Given the description of an element on the screen output the (x, y) to click on. 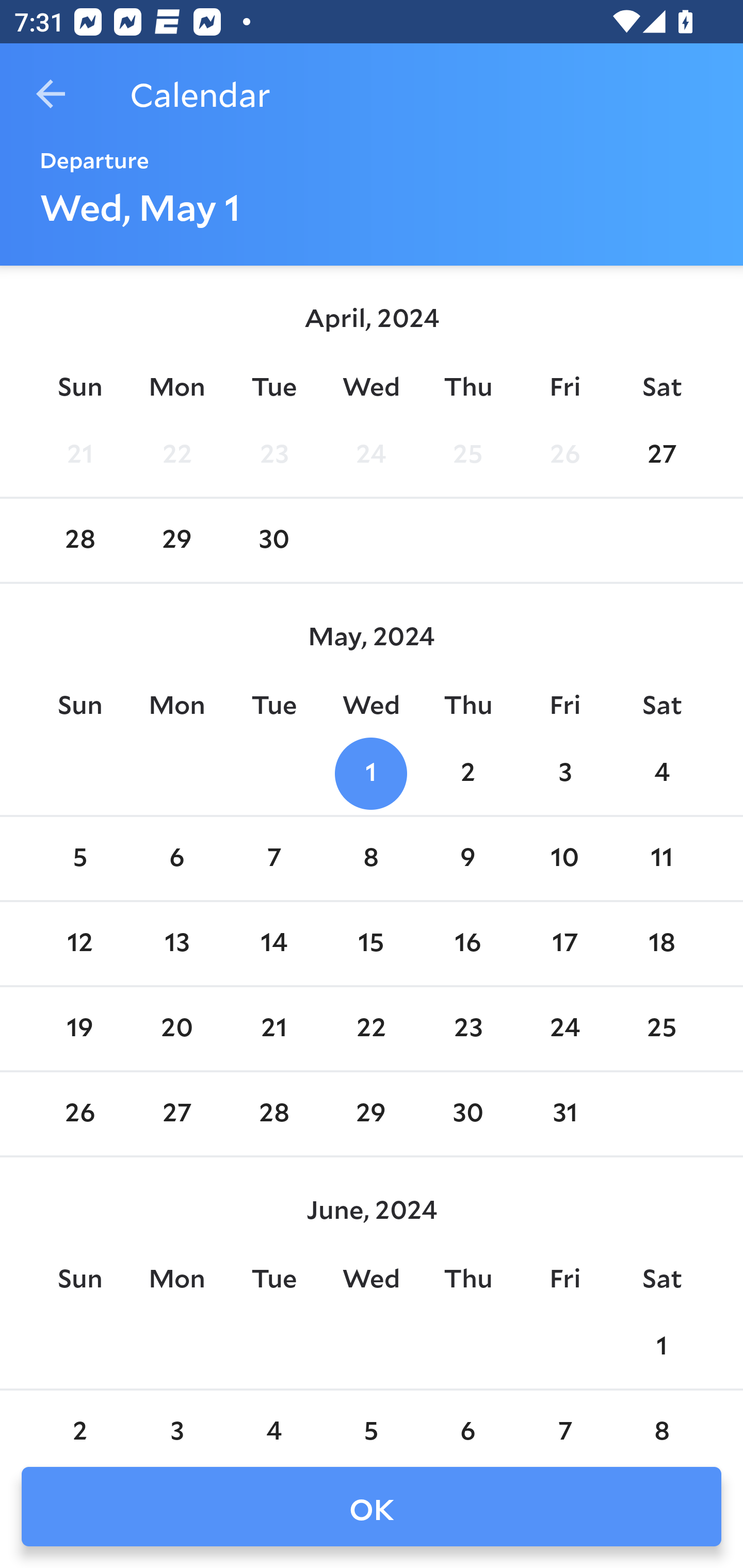
Navigate up (50, 93)
21 (79, 454)
22 (177, 454)
23 (273, 454)
24 (371, 454)
25 (467, 454)
26 (565, 454)
27 (661, 454)
28 (79, 540)
29 (177, 540)
30 (273, 540)
1 (371, 772)
2 (467, 772)
3 (565, 772)
4 (661, 772)
5 (79, 859)
6 (177, 859)
7 (273, 859)
8 (371, 859)
9 (467, 859)
10 (565, 859)
11 (661, 859)
12 (79, 943)
13 (177, 943)
14 (273, 943)
15 (371, 943)
16 (467, 943)
17 (565, 943)
18 (661, 943)
19 (79, 1028)
20 (177, 1028)
21 (273, 1028)
22 (371, 1028)
23 (467, 1028)
24 (565, 1028)
25 (661, 1028)
26 (79, 1114)
27 (177, 1114)
28 (273, 1114)
29 (371, 1114)
30 (467, 1114)
31 (565, 1114)
1 (661, 1346)
2 (79, 1420)
3 (177, 1420)
4 (273, 1420)
5 (371, 1420)
6 (467, 1420)
7 (565, 1420)
8 (661, 1420)
